Given the description of an element on the screen output the (x, y) to click on. 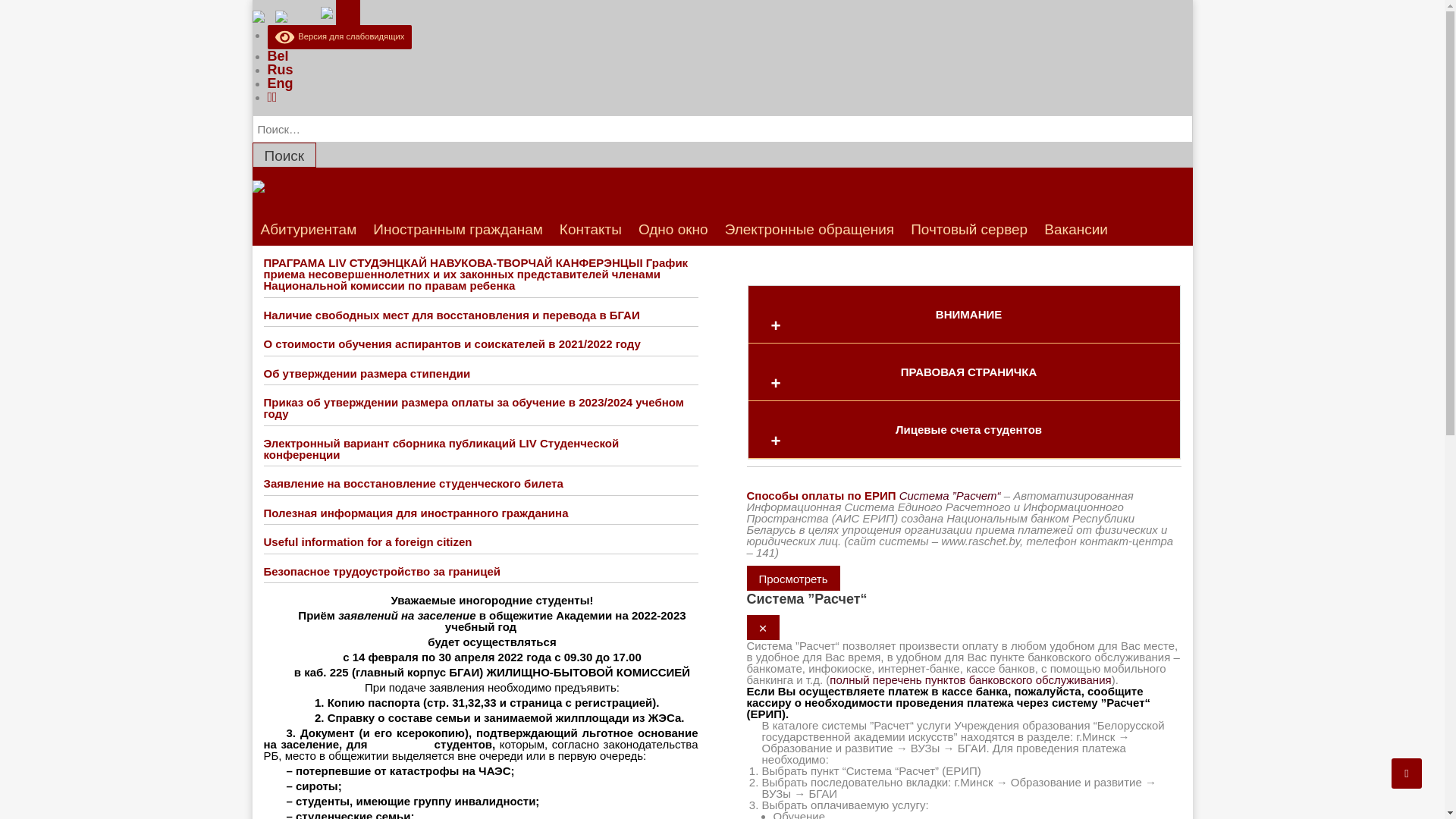
Eng
(current) Element type: text (279, 83)
Bel
(current) Element type: text (277, 55)
Useful information for a foreign citizen Element type: text (367, 541)
Rus
(current) Element type: text (279, 69)
